Given the description of an element on the screen output the (x, y) to click on. 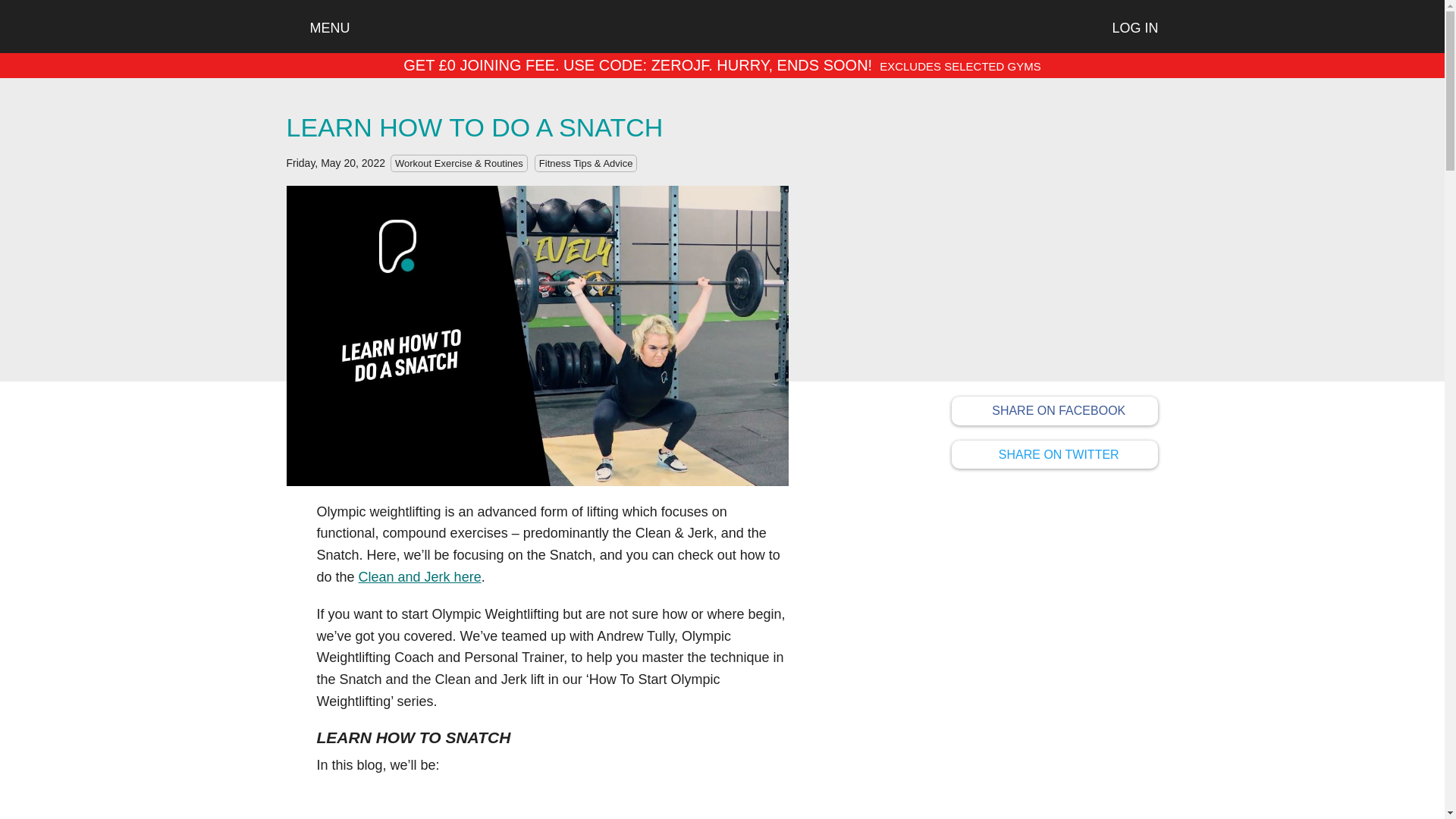
PureGym (973, 408)
Share on Facebook (1055, 454)
MENU (318, 28)
Home (722, 26)
How Start Olympic Weightlifting Clean Jerk (419, 576)
PureGym (973, 452)
Share on Facebook (1055, 410)
